Given the description of an element on the screen output the (x, y) to click on. 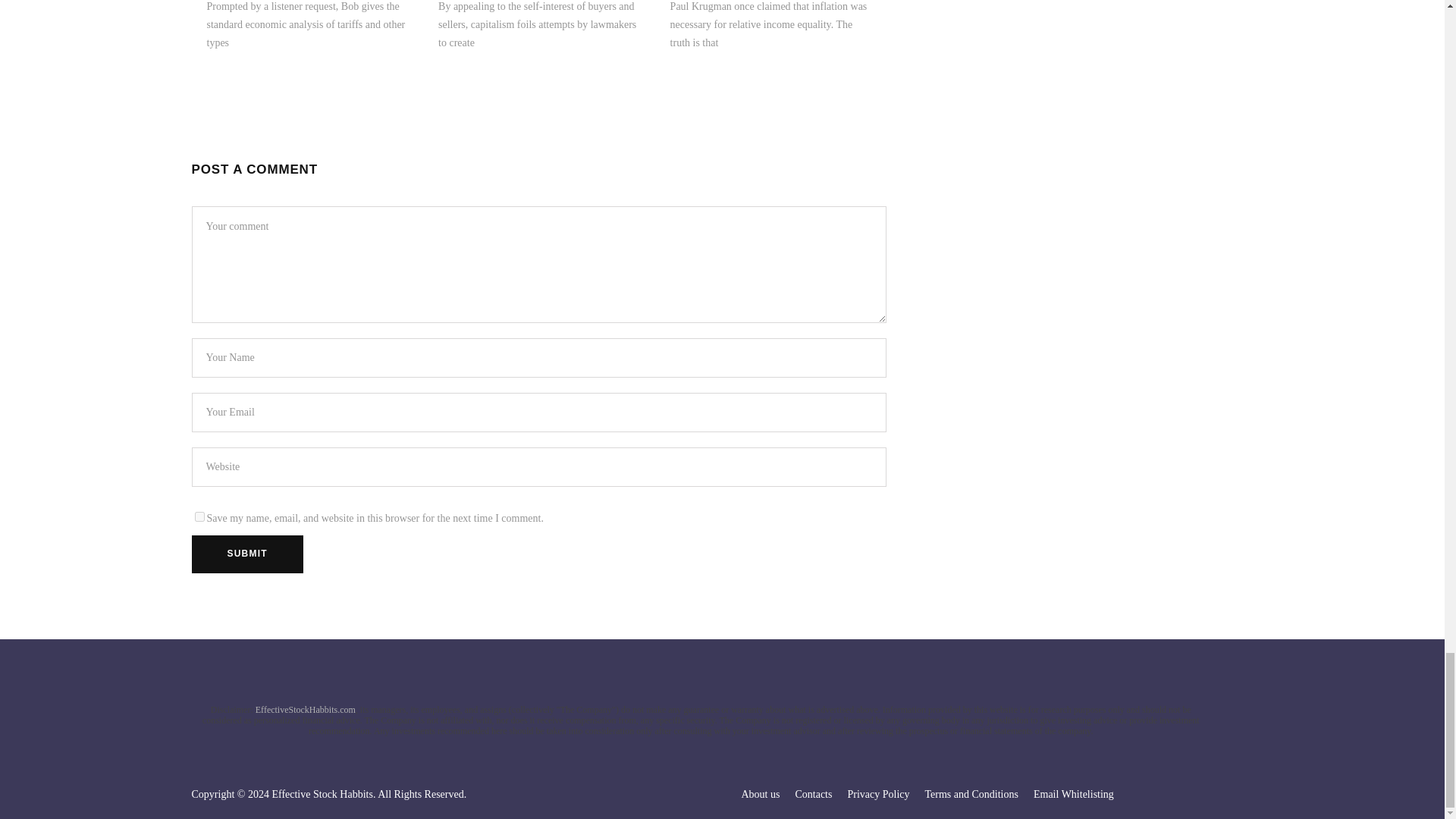
Submit (246, 554)
yes (198, 516)
